Given the description of an element on the screen output the (x, y) to click on. 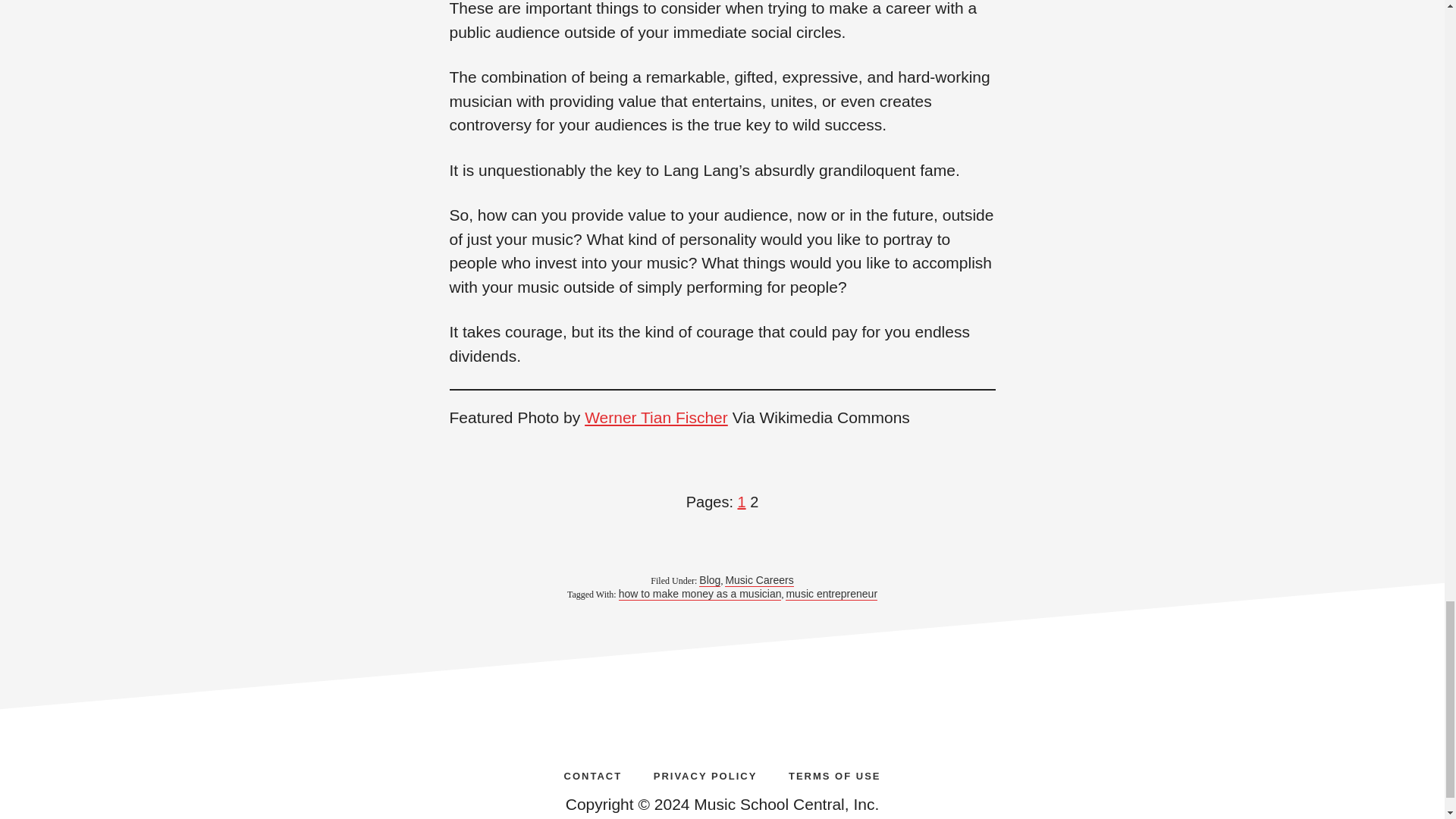
TERMS OF USE (834, 774)
CONTACT (593, 774)
music entrepreneur (831, 594)
PRIVACY POLICY (705, 774)
how to make money as a musician (699, 594)
Blog (709, 580)
Werner Tian Fischer (656, 416)
Music Careers (759, 580)
